Given the description of an element on the screen output the (x, y) to click on. 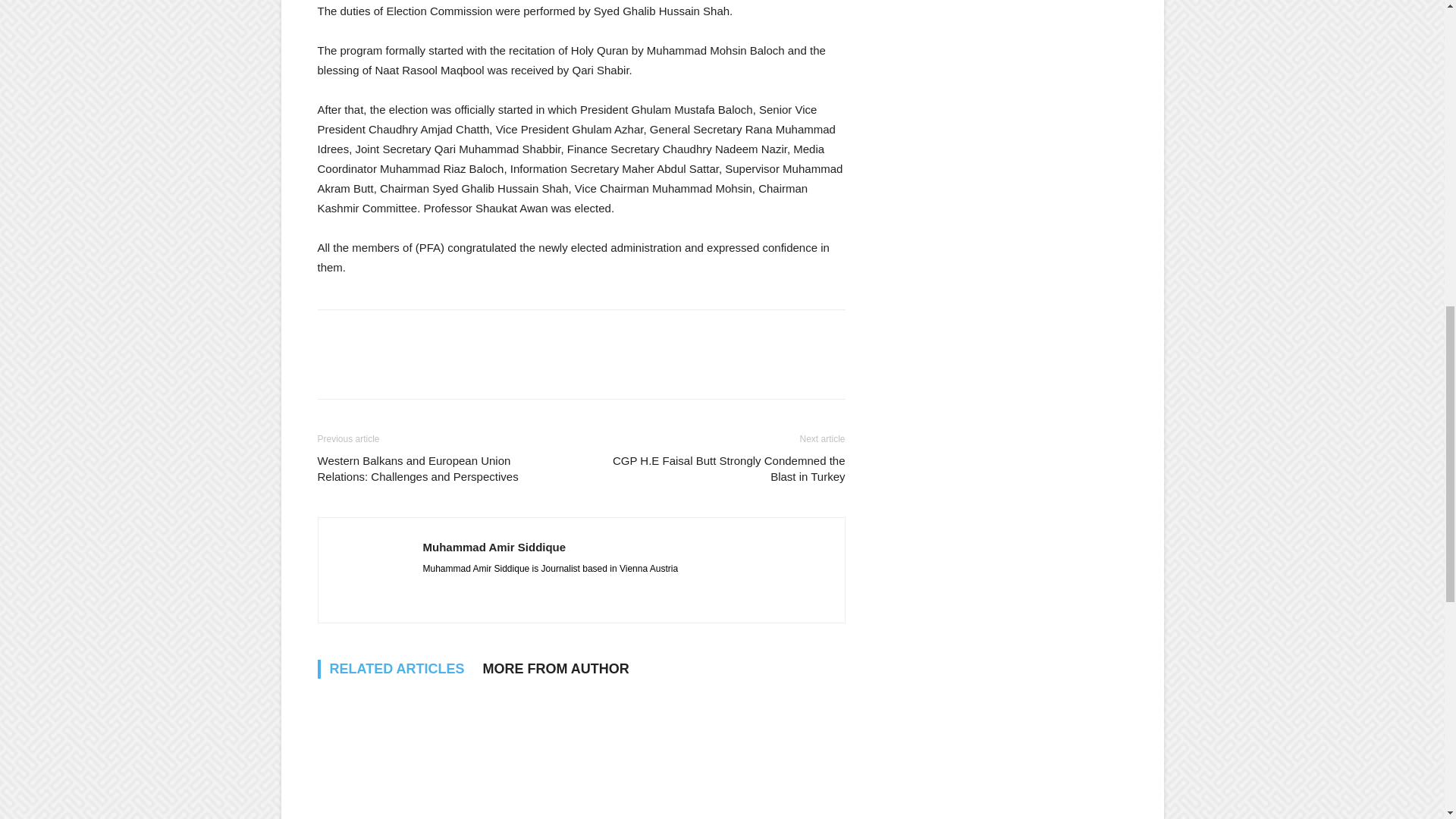
Ambassador Kamran Akhtar Met with President OPEC Fund (399, 755)
Hamas leader Ismail Haniyeh killed in an Israeli Attack (761, 755)
